Given the description of an element on the screen output the (x, y) to click on. 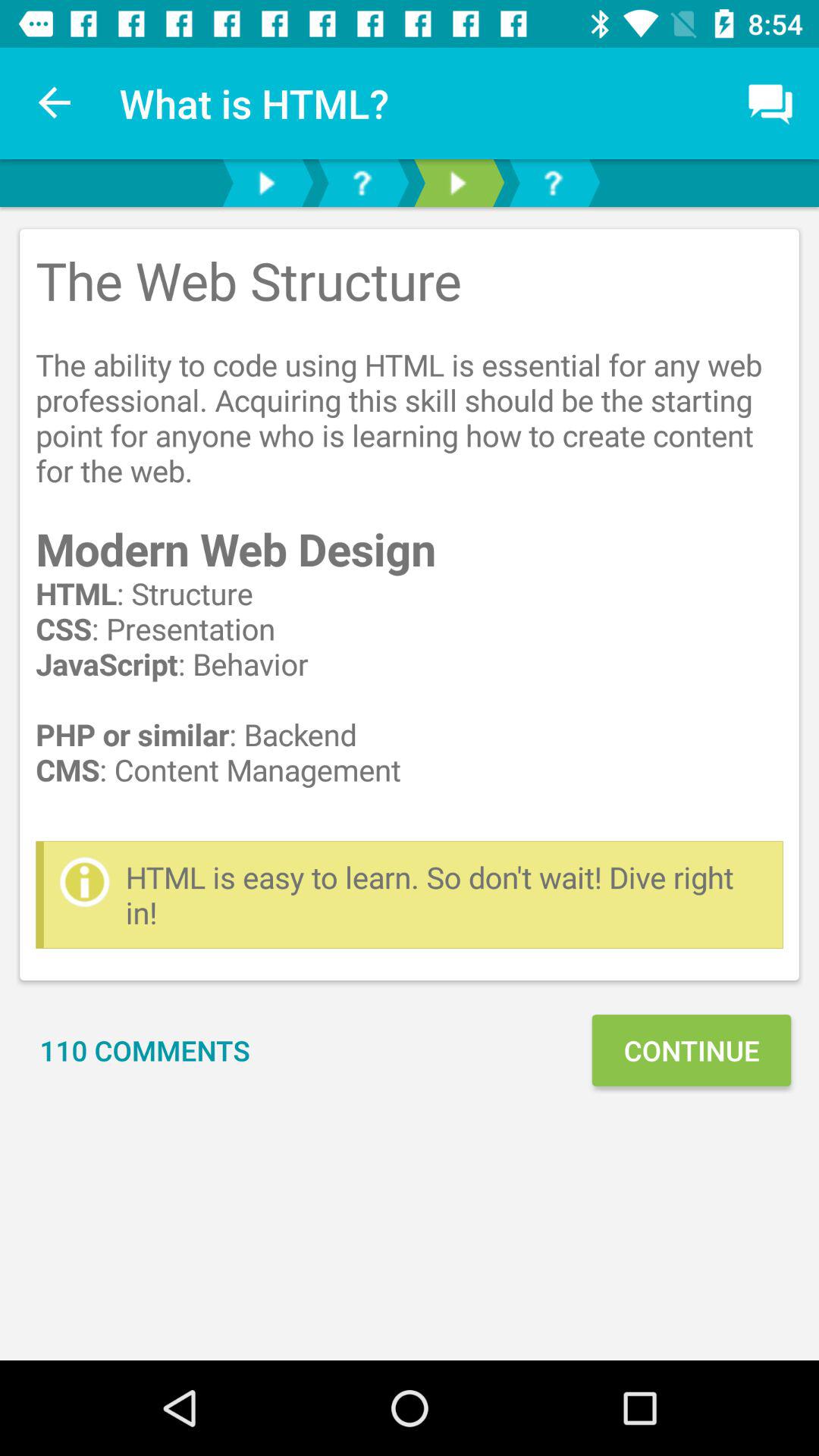
play (265, 183)
